Given the description of an element on the screen output the (x, y) to click on. 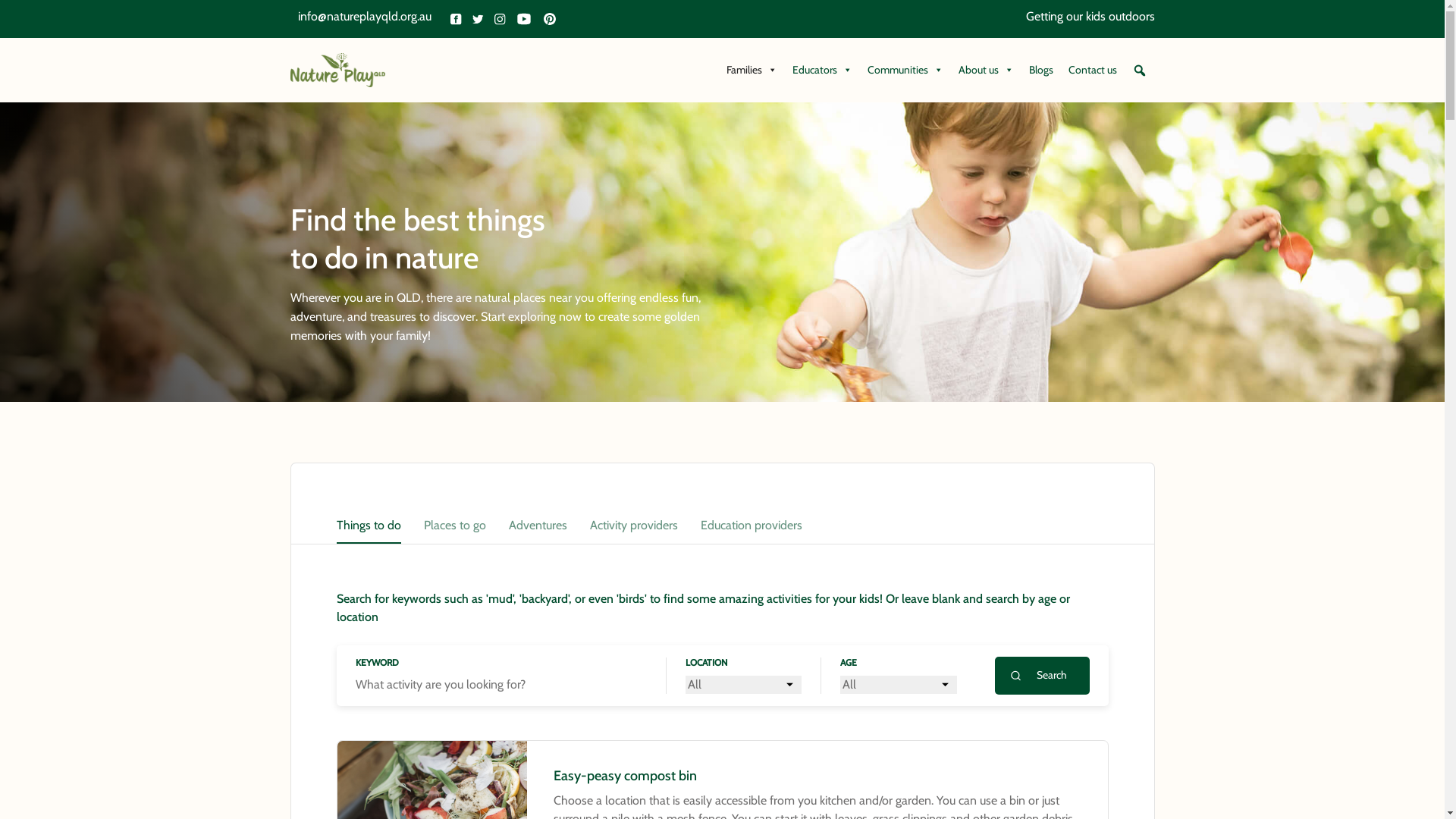
Families Element type: text (751, 69)
Search Element type: text (15, 15)
Education providers Element type: text (751, 525)
Search Element type: text (1041, 675)
Adventures Element type: text (537, 525)
Activity providers Element type: text (633, 525)
Contact us Element type: text (1091, 69)
Blogs Element type: text (1040, 69)
Educators Element type: text (821, 69)
Communities Element type: text (904, 69)
About us Element type: text (985, 69)
Places to go Element type: text (454, 525)
Things to do Element type: text (368, 525)
info@natureplayqld.org.au Element type: text (367, 18)
